Given the description of an element on the screen output the (x, y) to click on. 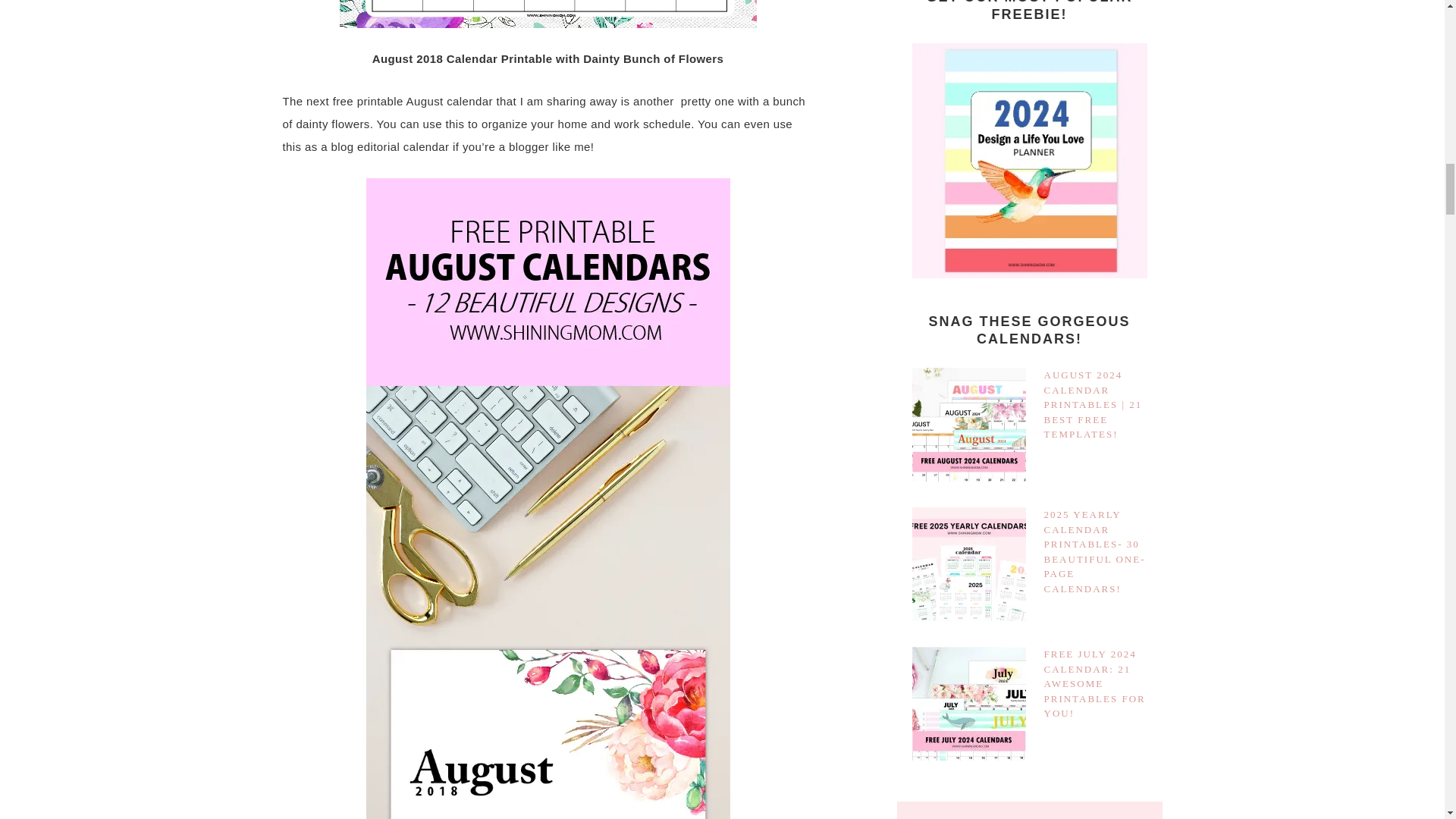
Our Best Free Planner Ever! (1029, 160)
